Given the description of an element on the screen output the (x, y) to click on. 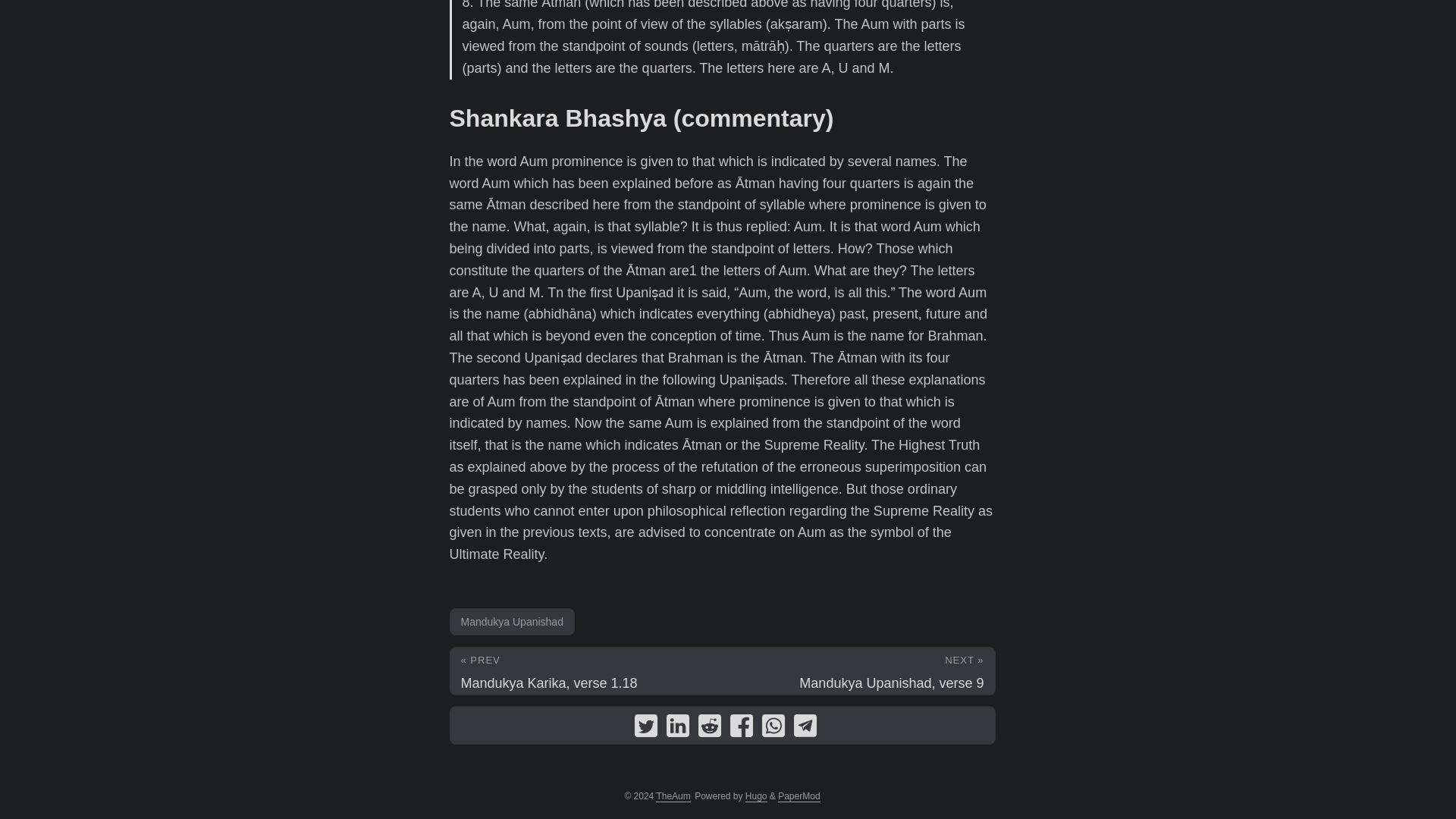
Hugo (756, 796)
TheAum (673, 796)
PaperMod (798, 796)
Mandukya Upanishad (510, 621)
